Given the description of an element on the screen output the (x, y) to click on. 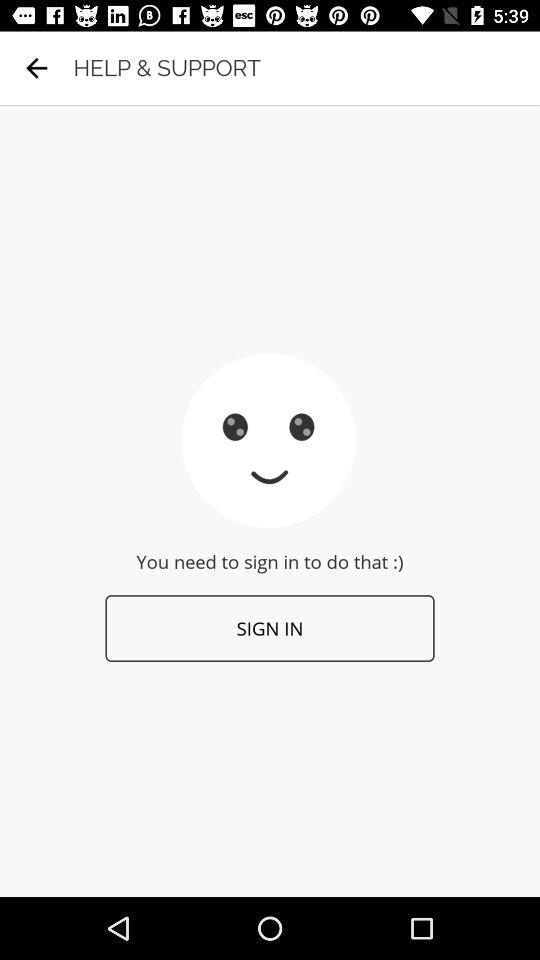
open item to the left of help & support item (36, 68)
